Given the description of an element on the screen output the (x, y) to click on. 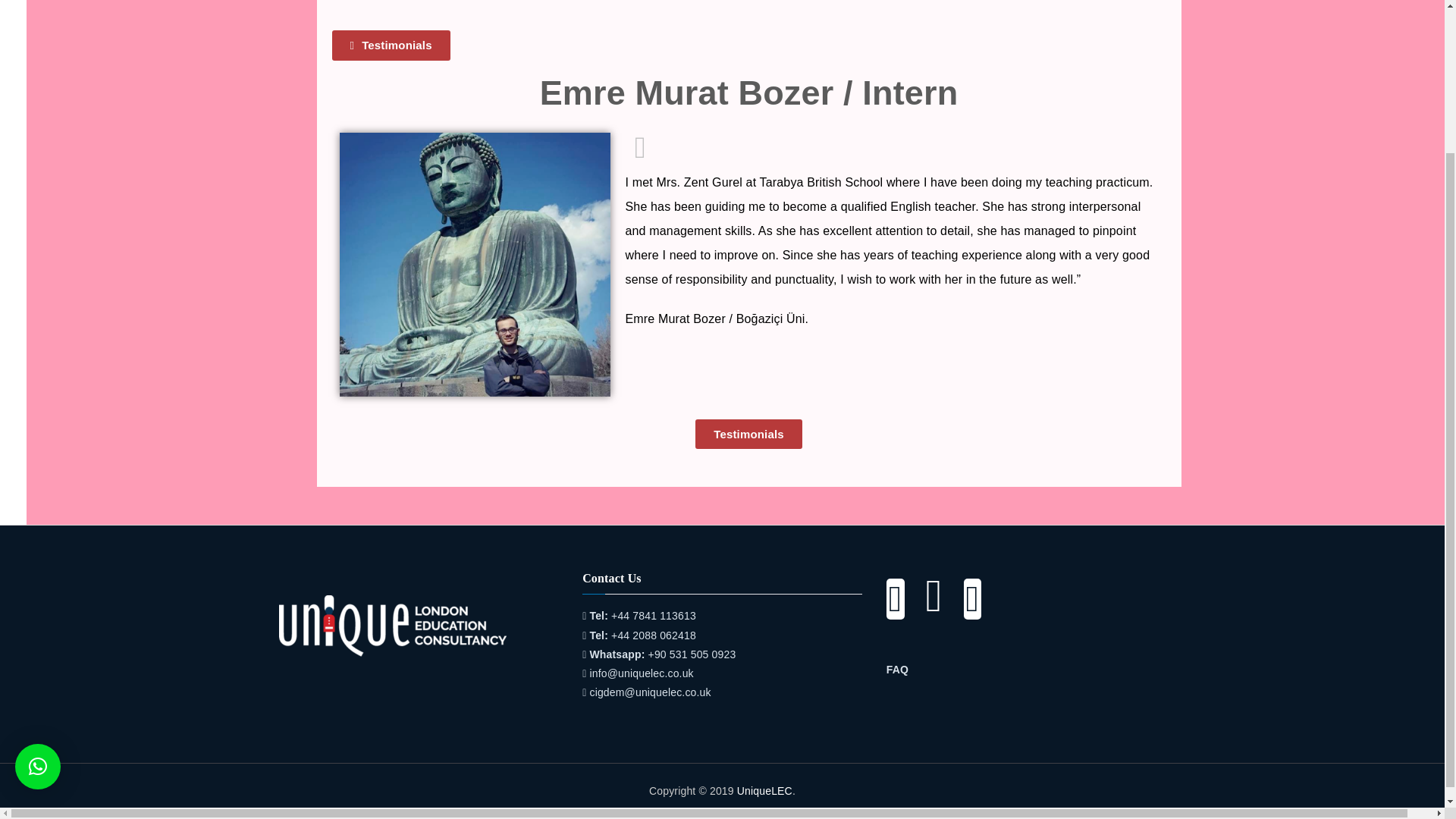
Instagram (924, 607)
Linkedin (962, 607)
Facebook (895, 607)
UniqueLEC (764, 790)
